Given the description of an element on the screen output the (x, y) to click on. 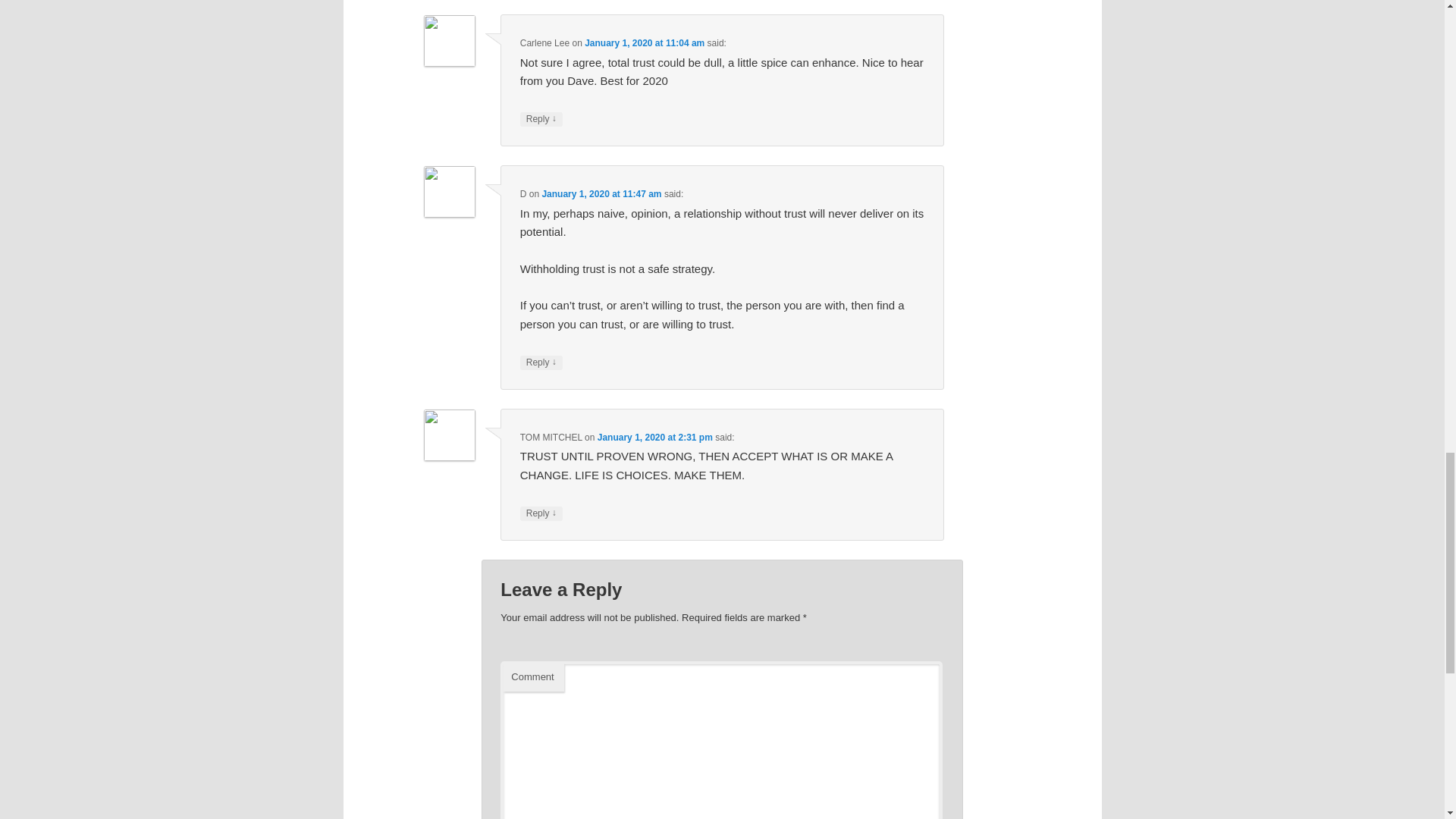
January 1, 2020 at 11:47 am (601, 194)
January 1, 2020 at 11:04 am (644, 42)
January 1, 2020 at 2:31 pm (654, 437)
